Given the description of an element on the screen output the (x, y) to click on. 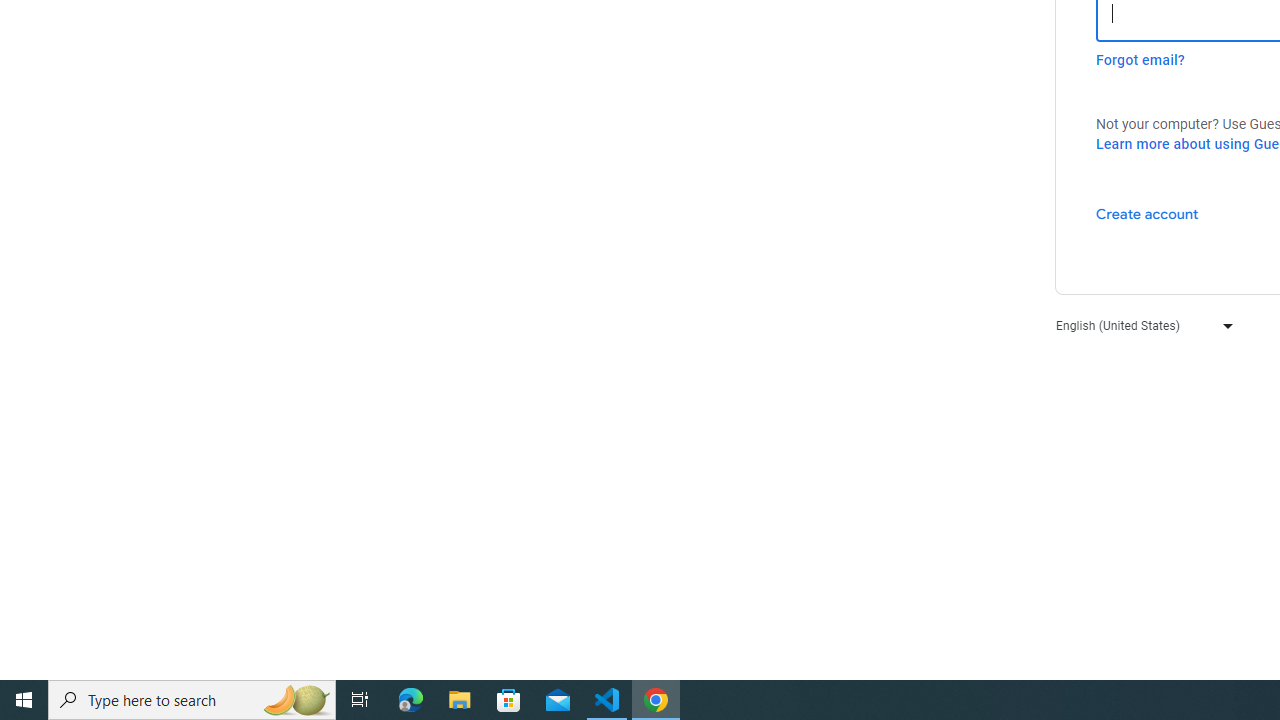
English (United States) (1139, 324)
Create account (1146, 213)
Forgot email? (1140, 59)
